Given the description of an element on the screen output the (x, y) to click on. 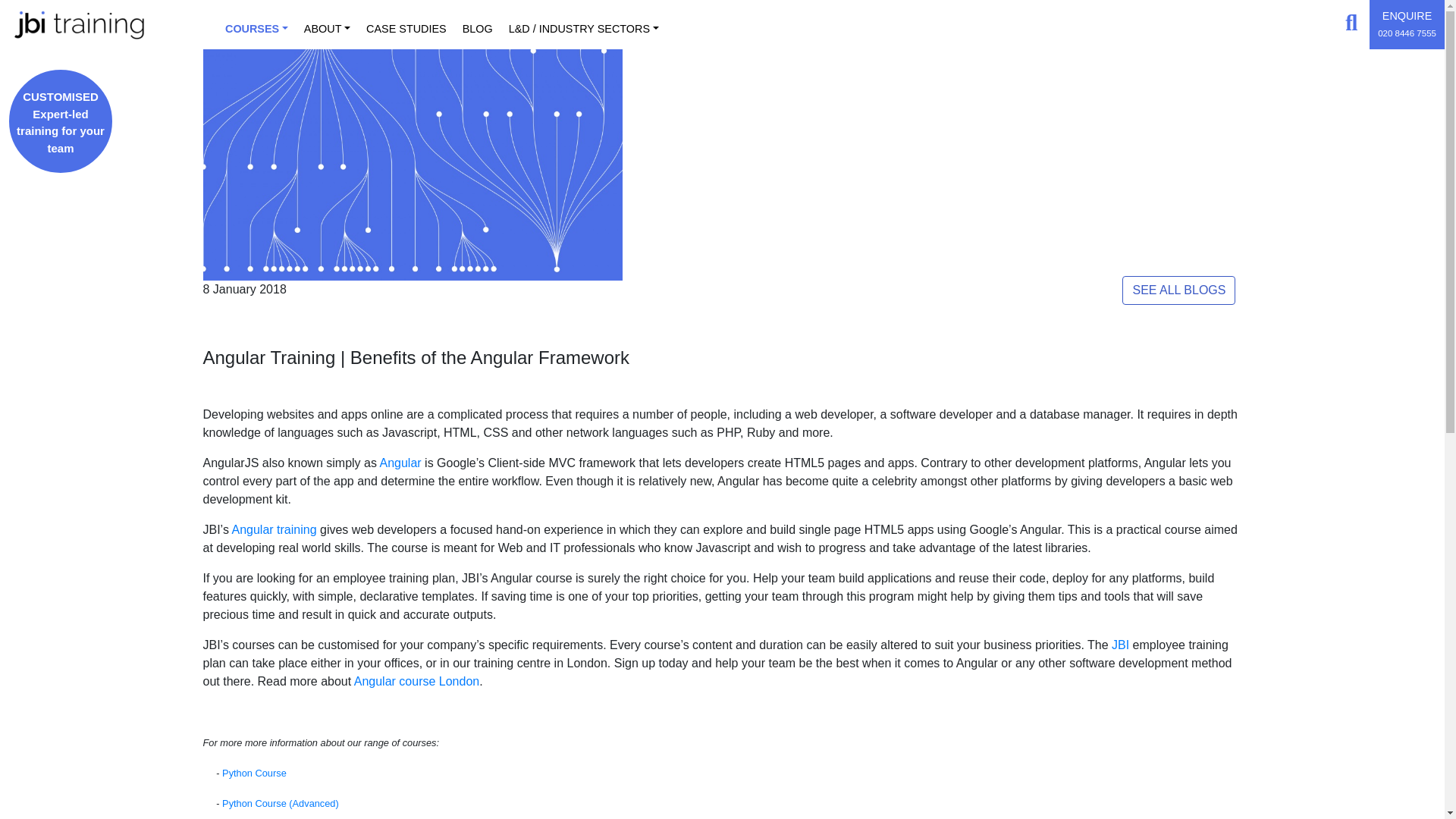
COURSES (258, 24)
